Given the description of an element on the screen output the (x, y) to click on. 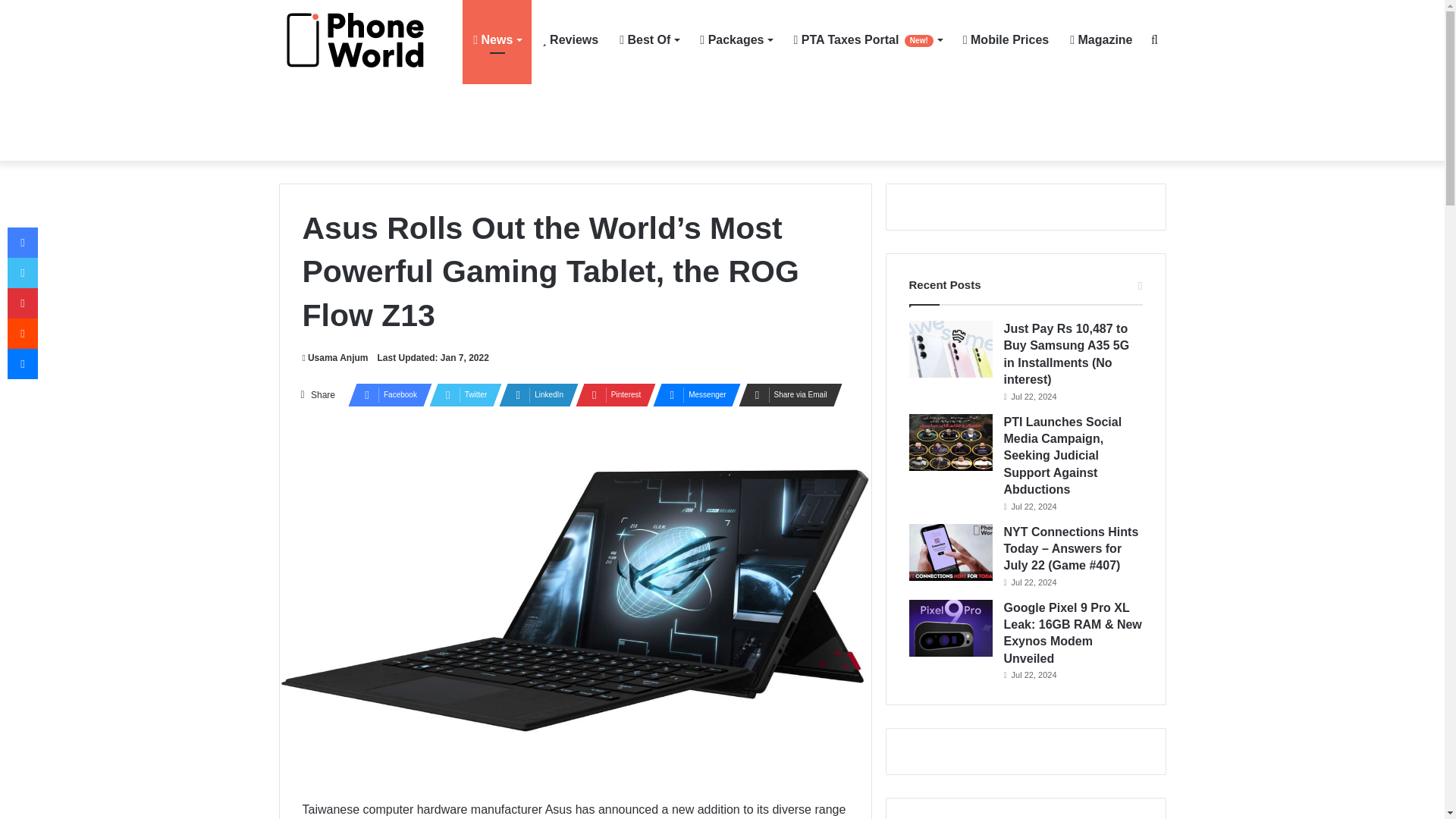
LinkedIn (534, 395)
Best Of (648, 40)
Usama Anjum (334, 357)
PhoneWorld (362, 40)
Share via Email (785, 395)
Magazine (1100, 40)
Messenger (692, 395)
Packages (735, 40)
Reviews (569, 40)
PTA Taxes Portal New! (867, 40)
Facebook (385, 395)
Mobile Prices (1005, 40)
Pinterest (610, 395)
Twitter (461, 395)
